Given the description of an element on the screen output the (x, y) to click on. 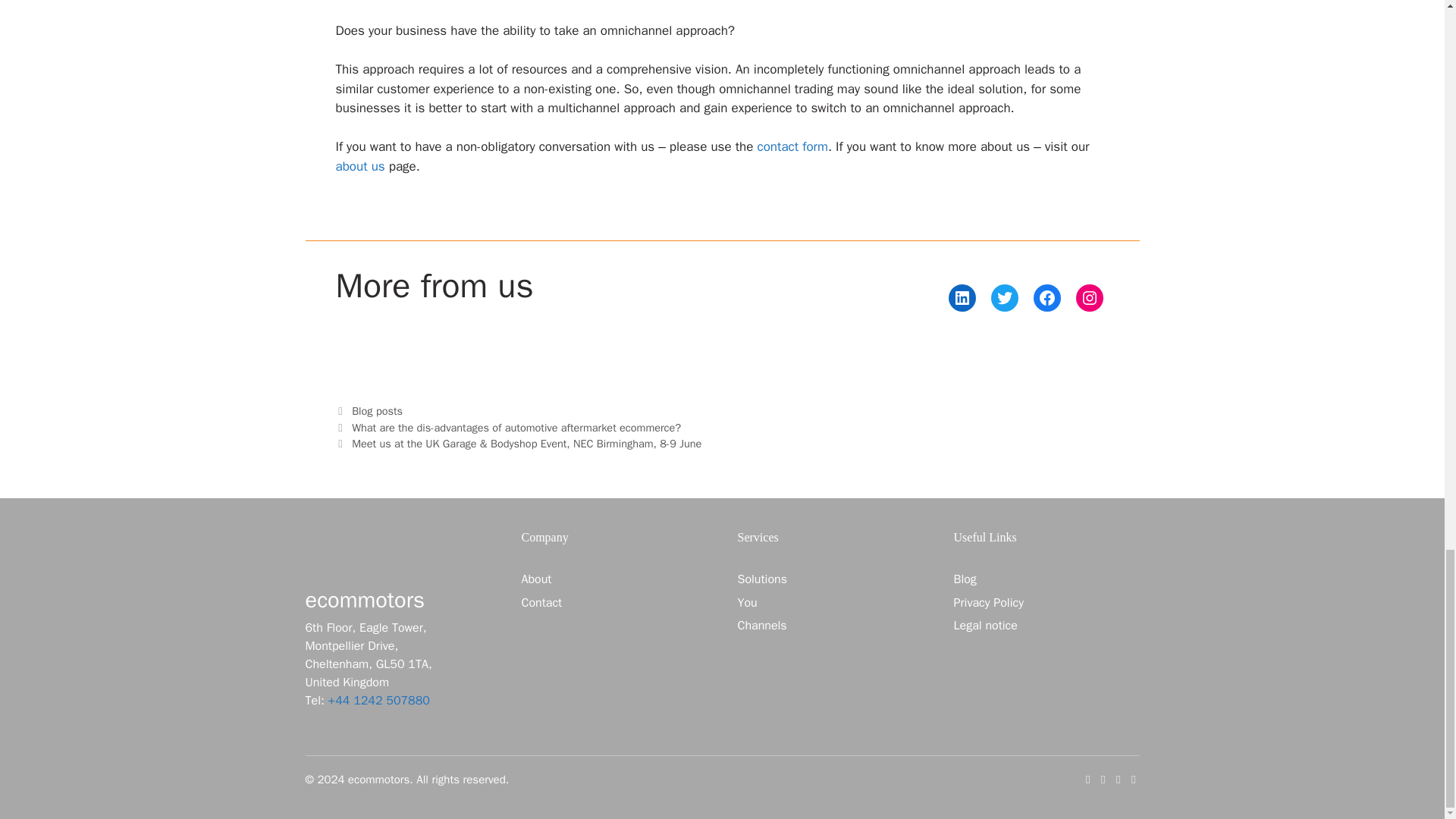
LinkedIn (961, 298)
contact form (792, 146)
about us (359, 166)
Instagram (1088, 298)
Facebook (1045, 298)
Twitter (1003, 298)
